Given the description of an element on the screen output the (x, y) to click on. 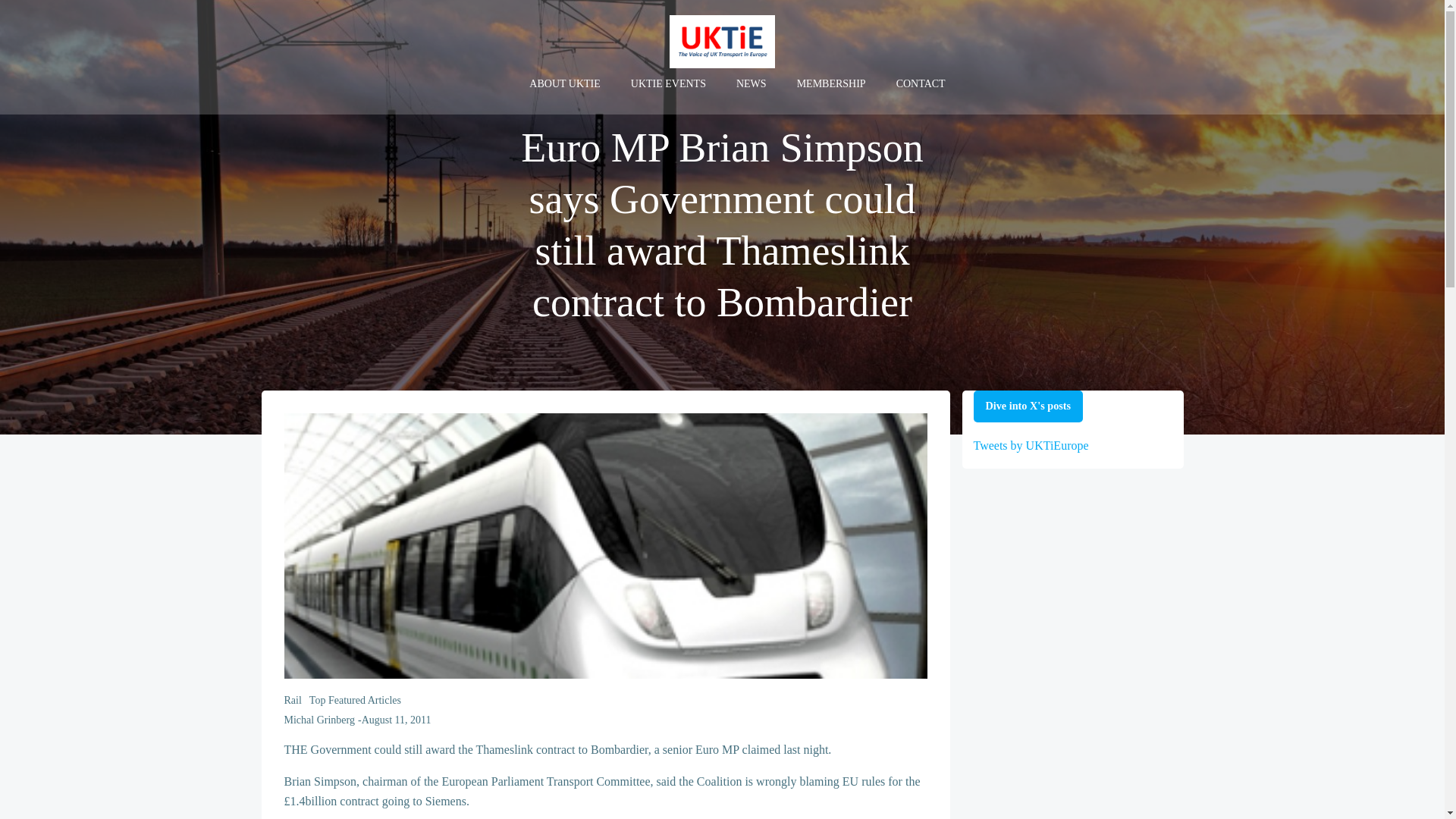
UKTIE EVENTS (668, 83)
ABOUT UKTIE (564, 83)
Top Featured Articles (354, 700)
CONTACT (920, 83)
Rail (292, 700)
MEMBERSHIP (831, 83)
NEWS (751, 83)
August 11, 2011 (395, 719)
Dive into X's posts (1028, 405)
Michal Grinberg (318, 719)
